Given the description of an element on the screen output the (x, y) to click on. 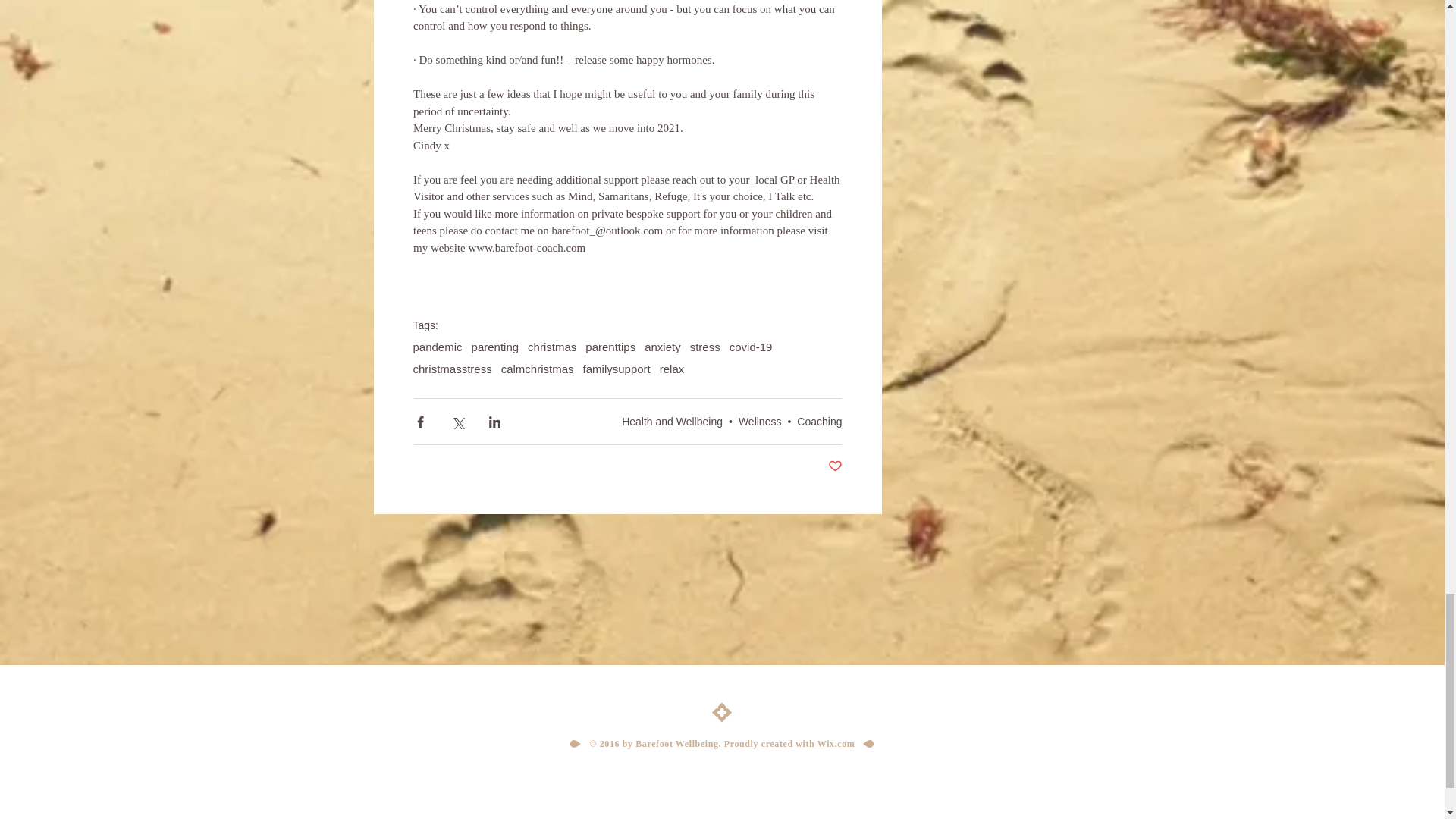
familysupport (616, 368)
anxiety (663, 346)
Post not marked as liked (835, 466)
covid-19 (751, 346)
pandemic (436, 346)
parenting (495, 346)
Wellness (759, 421)
Health and Wellbeing (671, 421)
Coaching (818, 421)
calmchristmas (536, 368)
christmas (551, 346)
stress (705, 346)
relax (671, 368)
christmasstress (452, 368)
parenttips (609, 346)
